Given the description of an element on the screen output the (x, y) to click on. 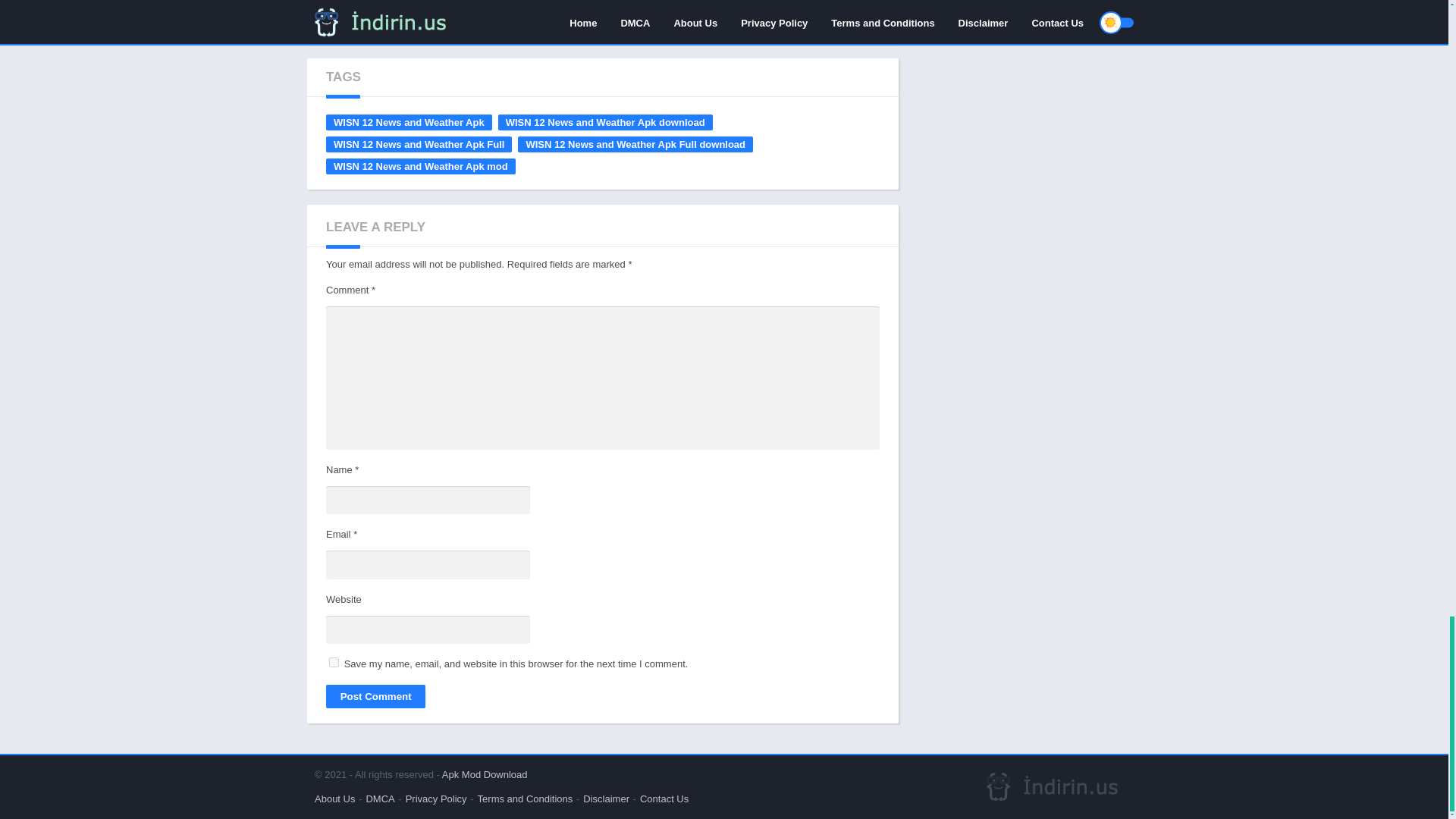
WISN 12 News and Weather Apk download (605, 122)
Local Now Watch Local News, Weather, Movies TV Apk Download (488, 15)
Post Comment (375, 696)
Free FOX 5 New York News (375, 15)
PIX 11 News Apk Download (829, 15)
PIX 11 News Apk Download (829, 15)
NBC4 Washington Local News, Alerts, Weather TV Apk Download (715, 15)
Free FOX 5 New York  News (375, 15)
WISN 12 News and Weather Apk (409, 122)
yes (334, 662)
